Given the description of an element on the screen output the (x, y) to click on. 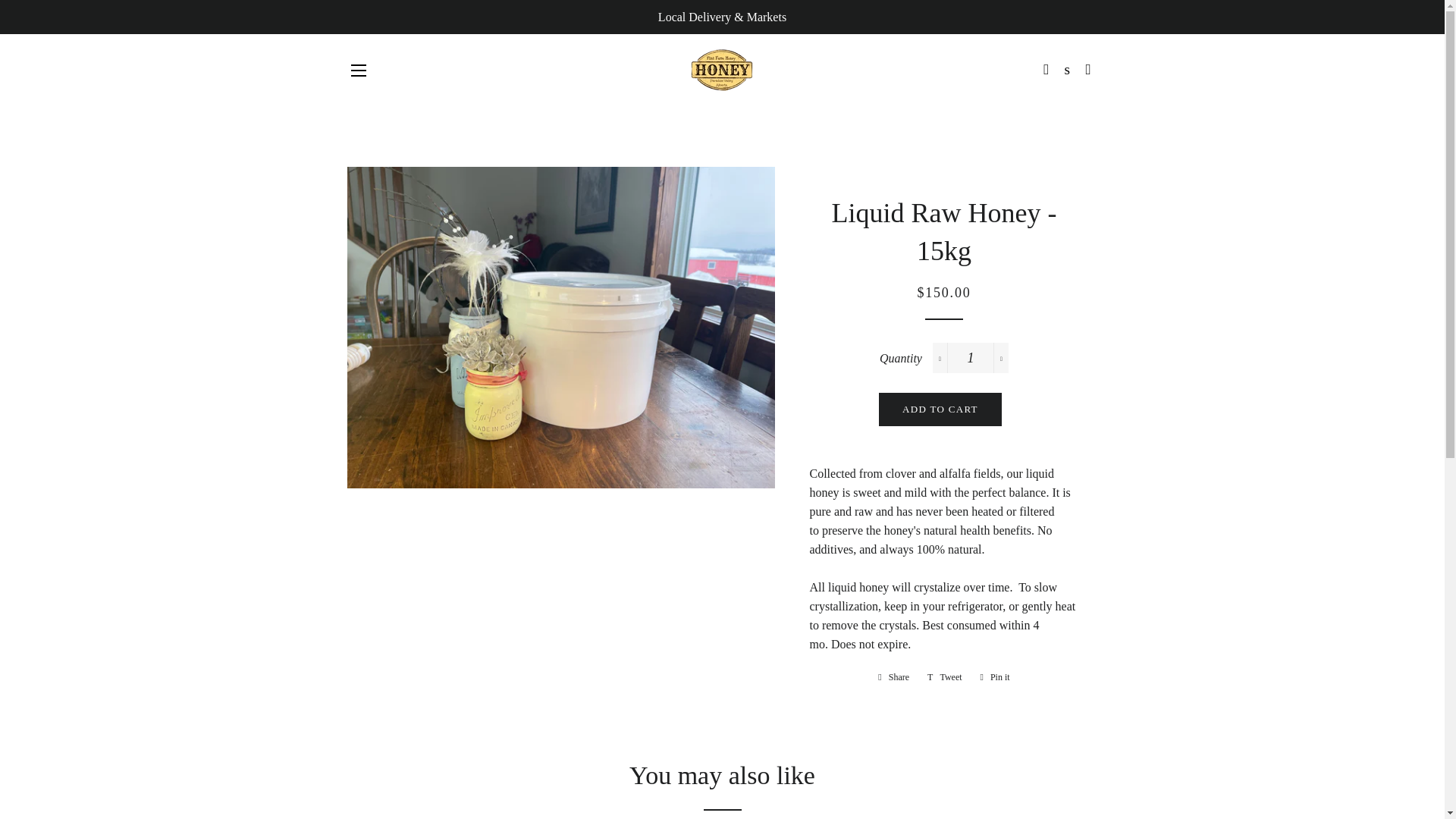
SITE NAVIGATION (944, 677)
ADD TO CART (358, 70)
1 (940, 409)
Tweet on Twitter (971, 358)
Pin on Pinterest (893, 677)
Share on Facebook (944, 677)
